Given the description of an element on the screen output the (x, y) to click on. 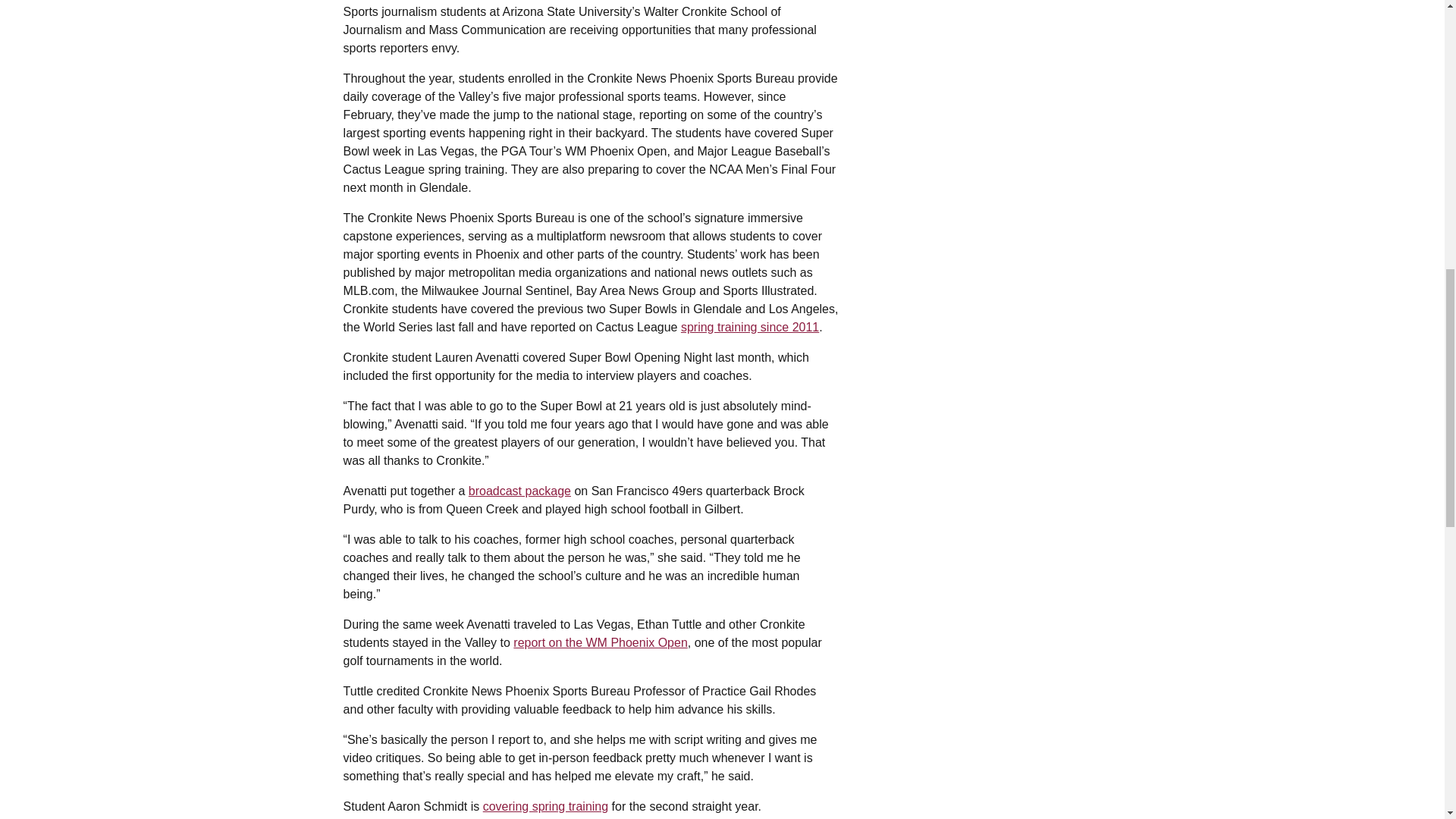
spring training since 2011 (749, 327)
broadcast package (519, 490)
report on the WM Phoenix Open (600, 642)
covering spring training (545, 806)
